Given the description of an element on the screen output the (x, y) to click on. 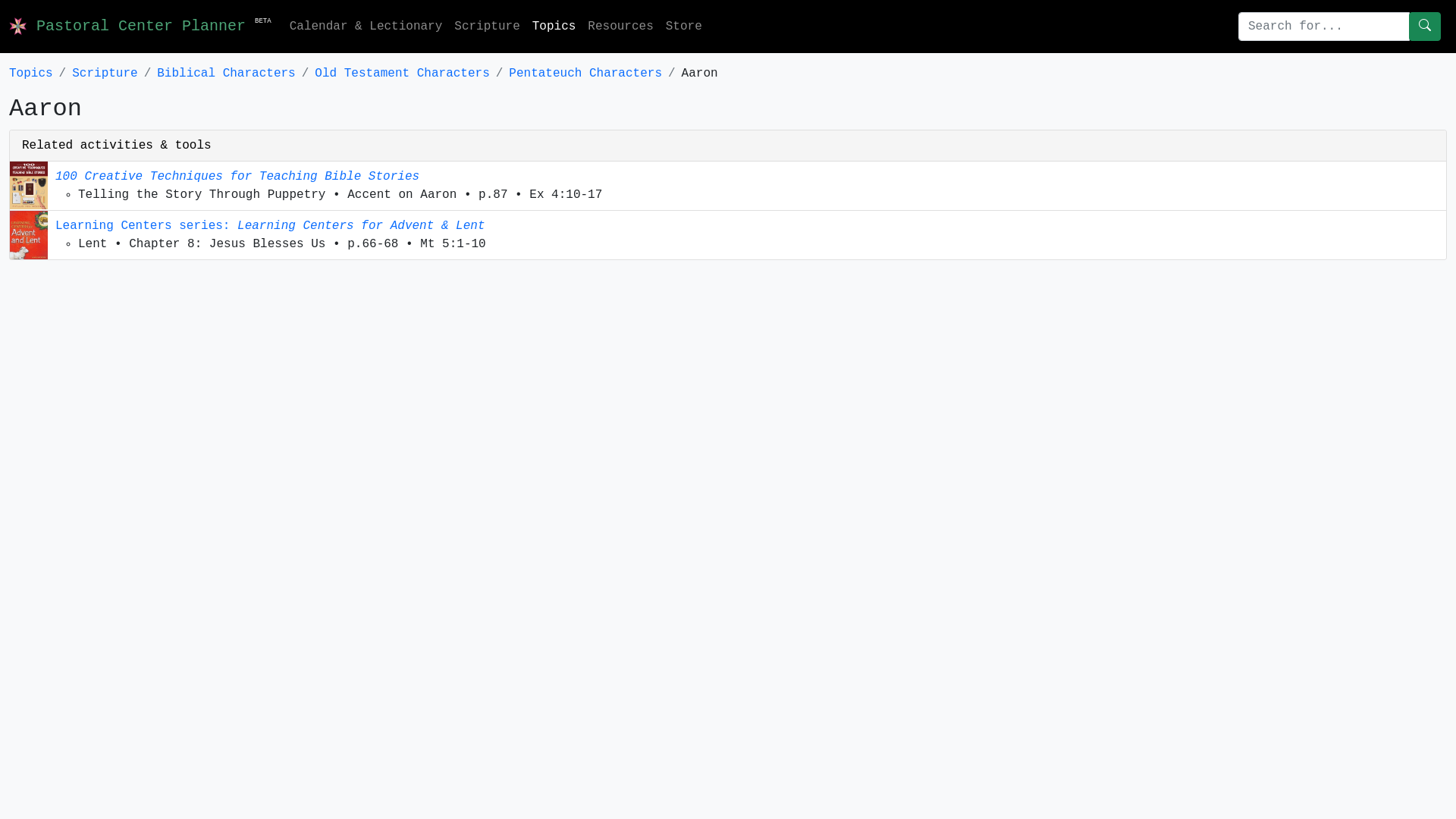
Learning Centers series: Learning Centers for Advent & Lent Element type: text (270, 225)
100 Creative Techniques for Teaching Bible Stories Element type: text (237, 176)
Scripture Element type: text (104, 73)
Old Testament Characters Element type: text (401, 73)
Pentateuch Characters Element type: text (585, 73)
Scripture Element type: text (486, 26)
Pastoral Center Planner BETA Element type: text (140, 26)
Calendar & Lectionary Element type: text (365, 26)
Biblical Characters Element type: text (225, 73)
Topics Element type: text (554, 26)
Resources Element type: text (619, 26)
Store Element type: text (683, 26)
Topics Element type: text (31, 73)
